Given the description of an element on the screen output the (x, y) to click on. 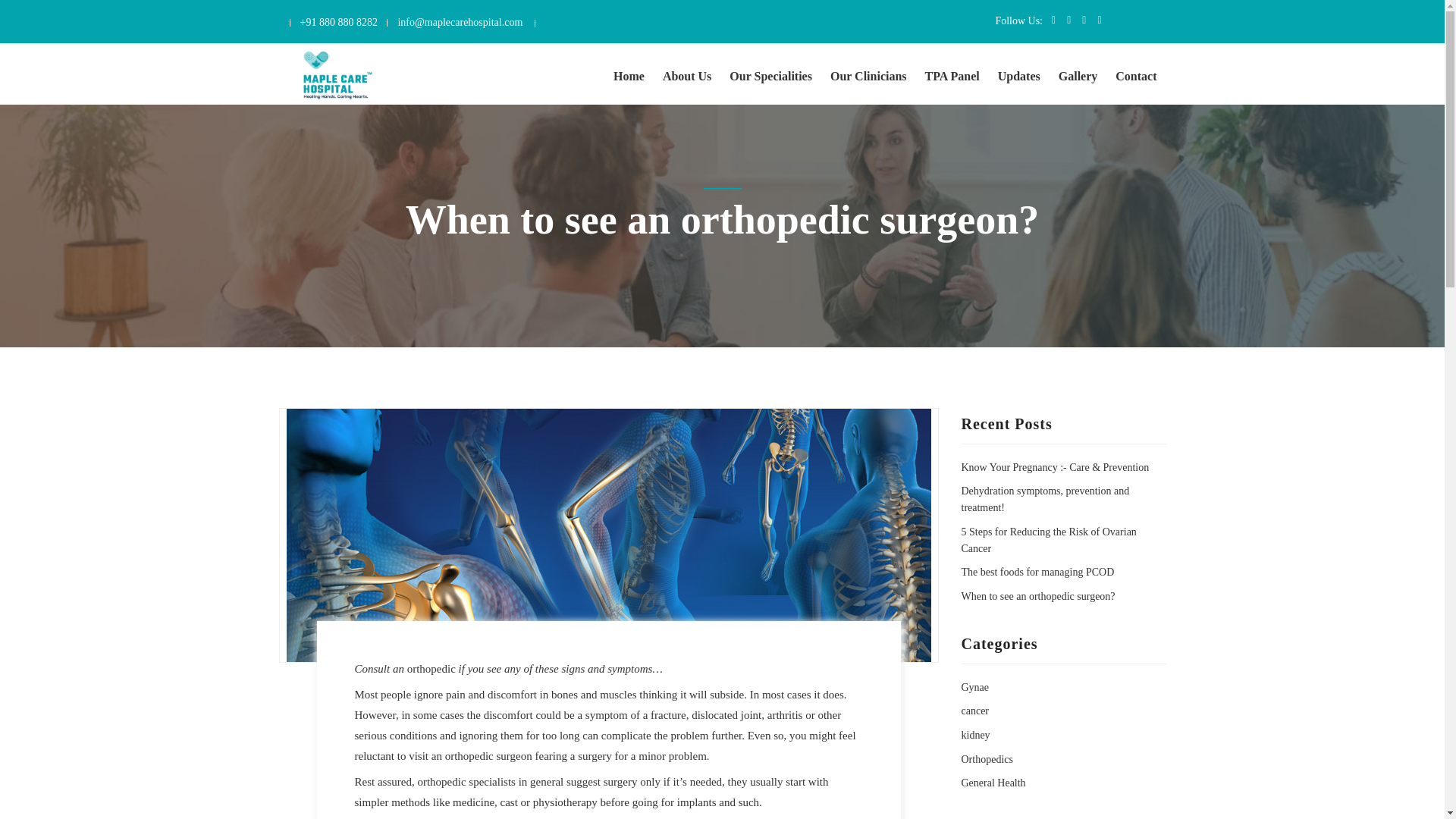
Contact (1135, 66)
About Us (686, 66)
When to see an orthopedic surgeon? (1037, 595)
The best foods for managing PCOD (1037, 572)
Orthopedics (986, 758)
kidney (975, 735)
Gynae (975, 686)
Updates (1019, 66)
5 Steps for Reducing the Risk of Ovarian Cancer (1048, 540)
TPA Panel (951, 66)
